Given the description of an element on the screen output the (x, y) to click on. 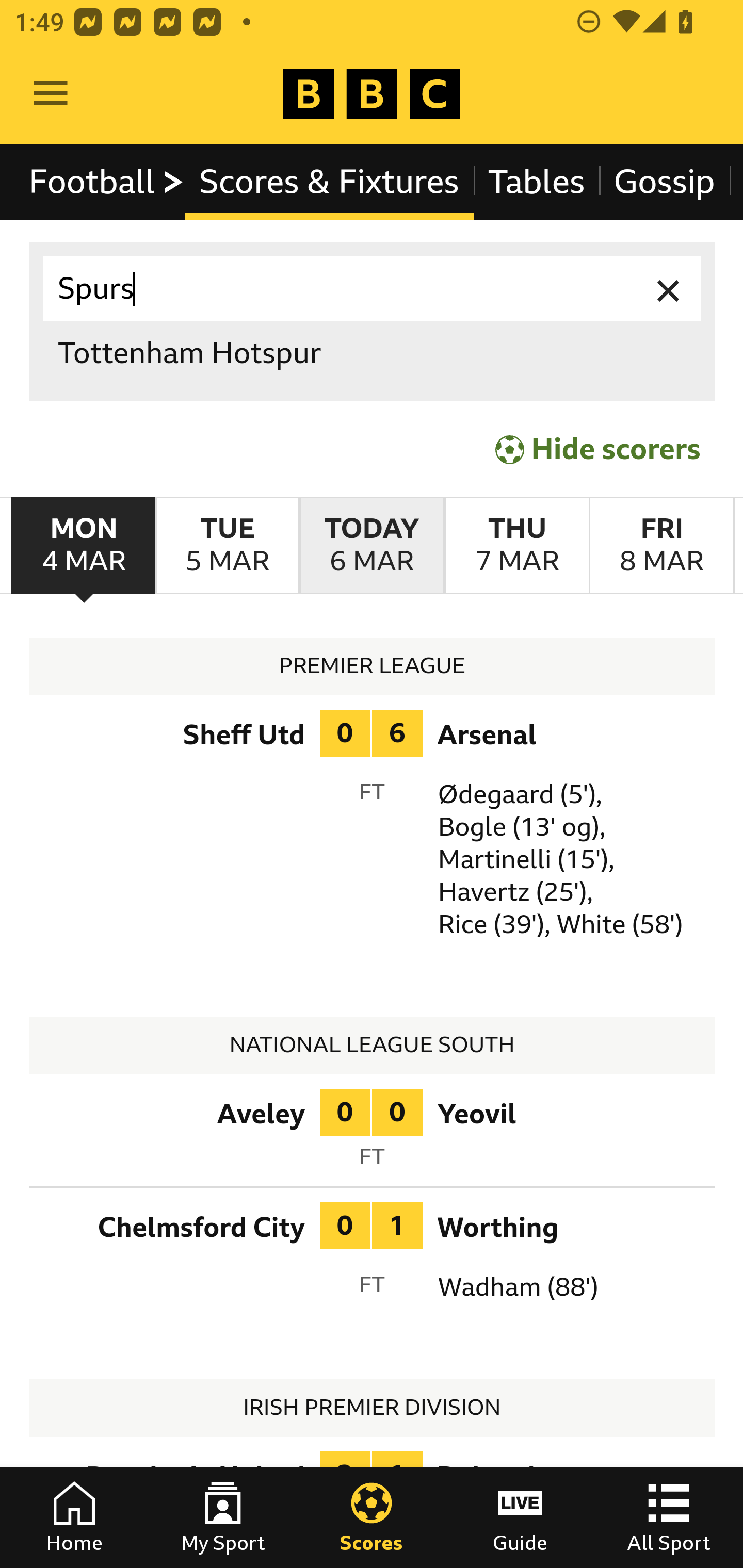
Open Menu (50, 93)
Football  (106, 181)
Scores & Fixtures (329, 181)
Tables (536, 181)
Gossip (664, 181)
Spurs (372, 289)
Clear input (669, 289)
Tottenham Hotspur (372, 353)
Hide scorers (598, 449)
TuesdayMarch 5th Tuesday March 5th (227, 546)
TodayMarch 6th Today March 6th (371, 546)
ThursdayMarch 7th Thursday March 7th (516, 546)
FridayMarch 8th Friday March 8th (661, 546)
Home (74, 1517)
My Sport (222, 1517)
Guide (519, 1517)
All Sport (668, 1517)
